Given the description of an element on the screen output the (x, y) to click on. 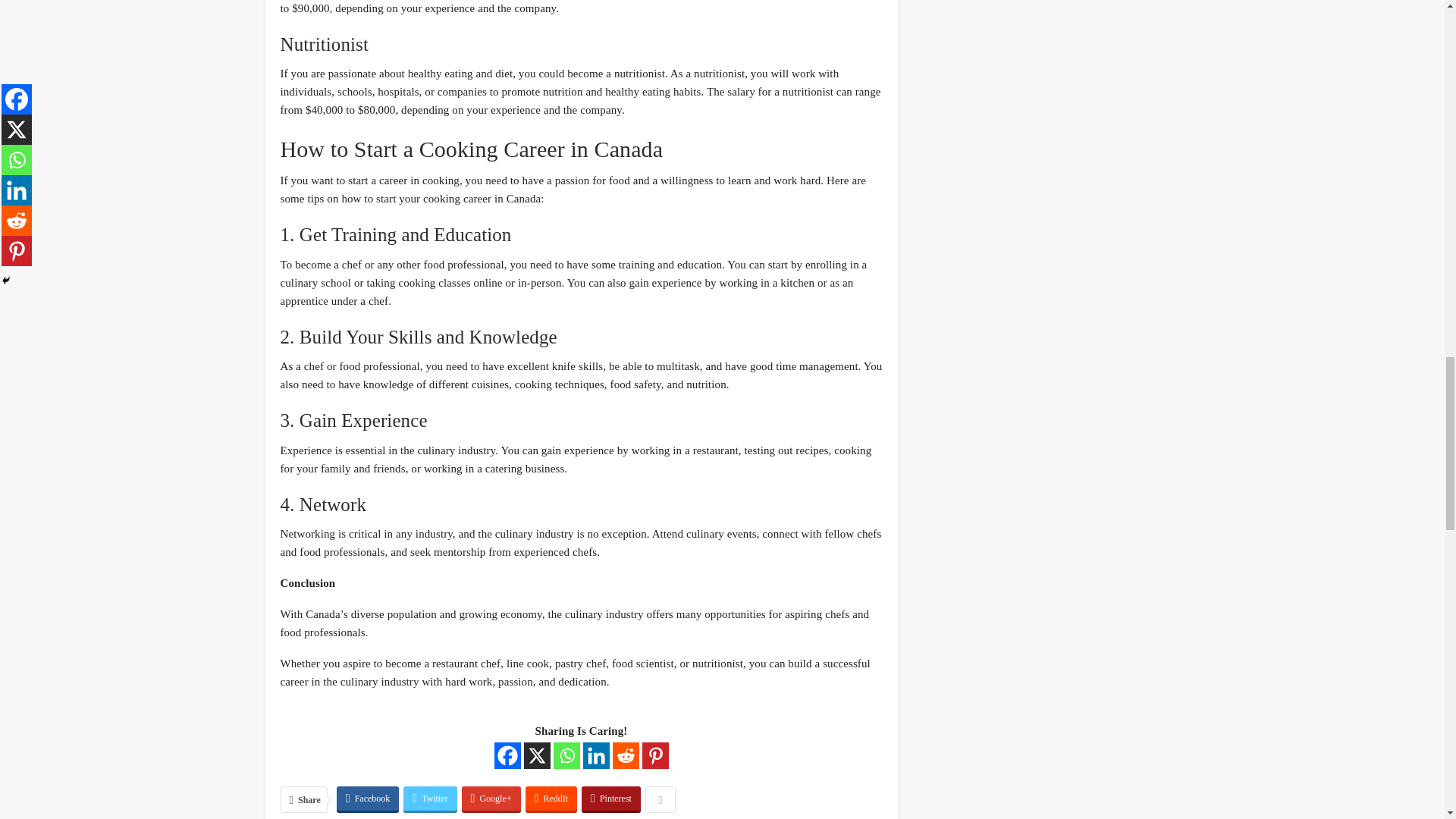
Linkedin (595, 755)
Reddit (625, 755)
Facebook (508, 755)
X (536, 755)
Pinterest (655, 755)
Whatsapp (566, 755)
